Given the description of an element on the screen output the (x, y) to click on. 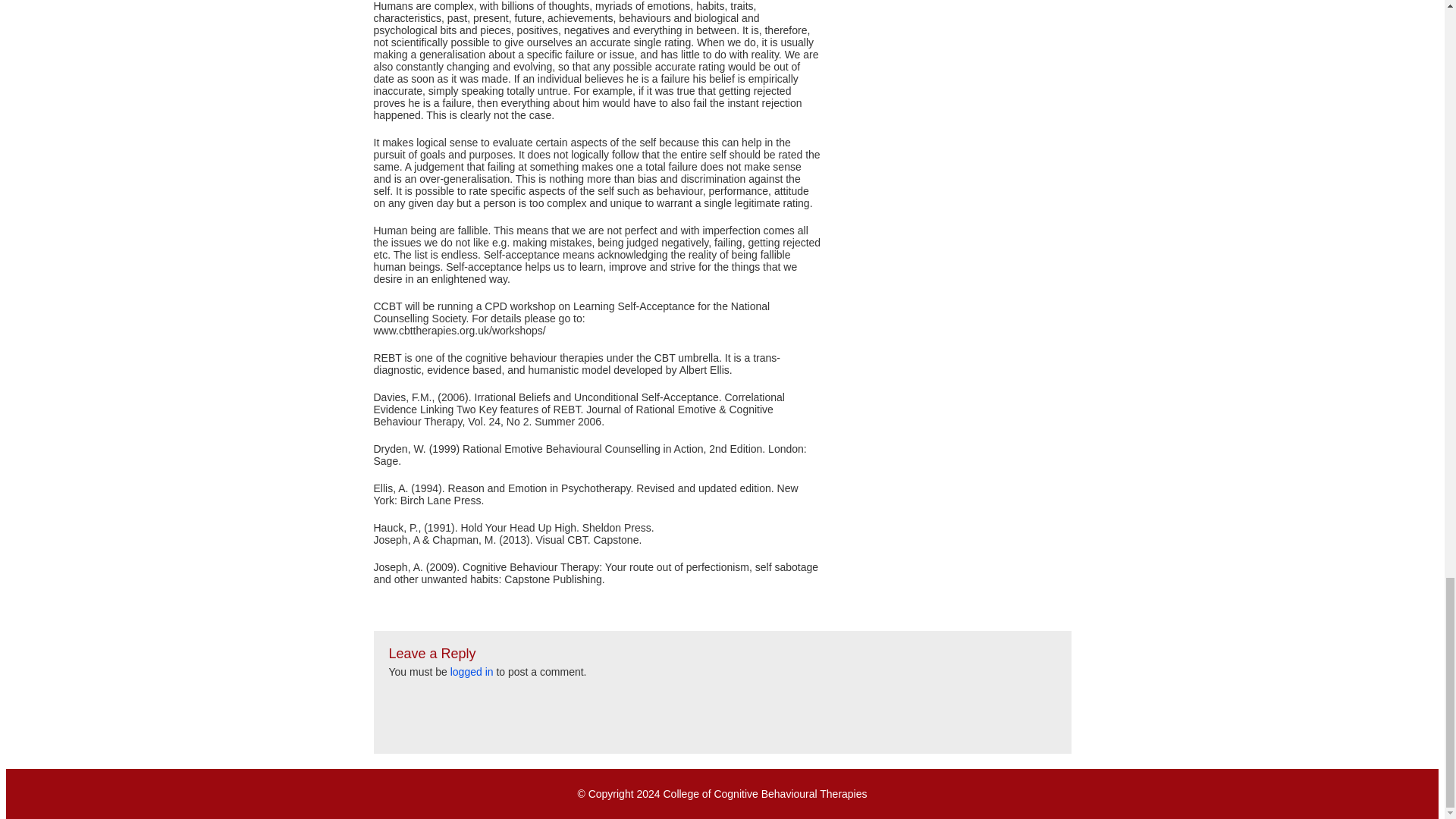
logged in (471, 671)
